Given the description of an element on the screen output the (x, y) to click on. 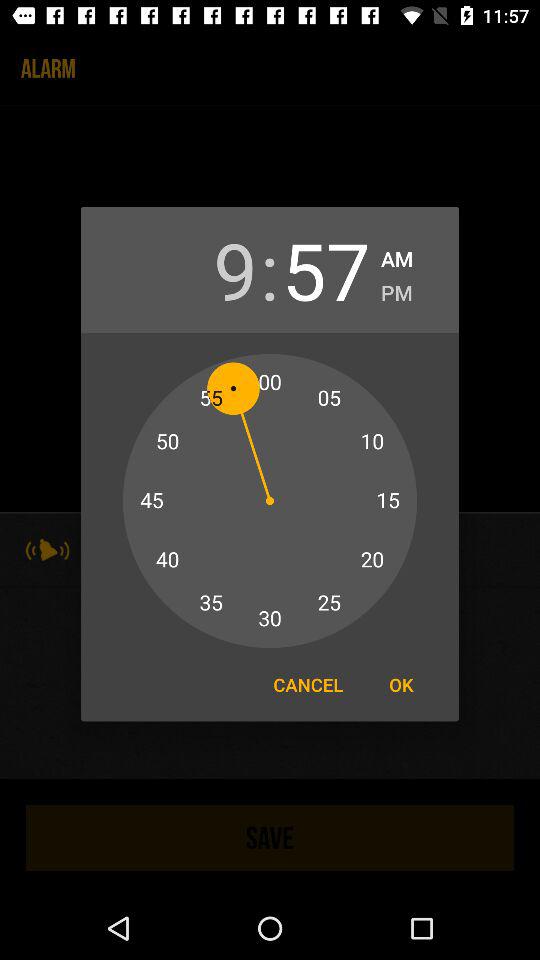
choose the am icon (397, 256)
